Given the description of an element on the screen output the (x, y) to click on. 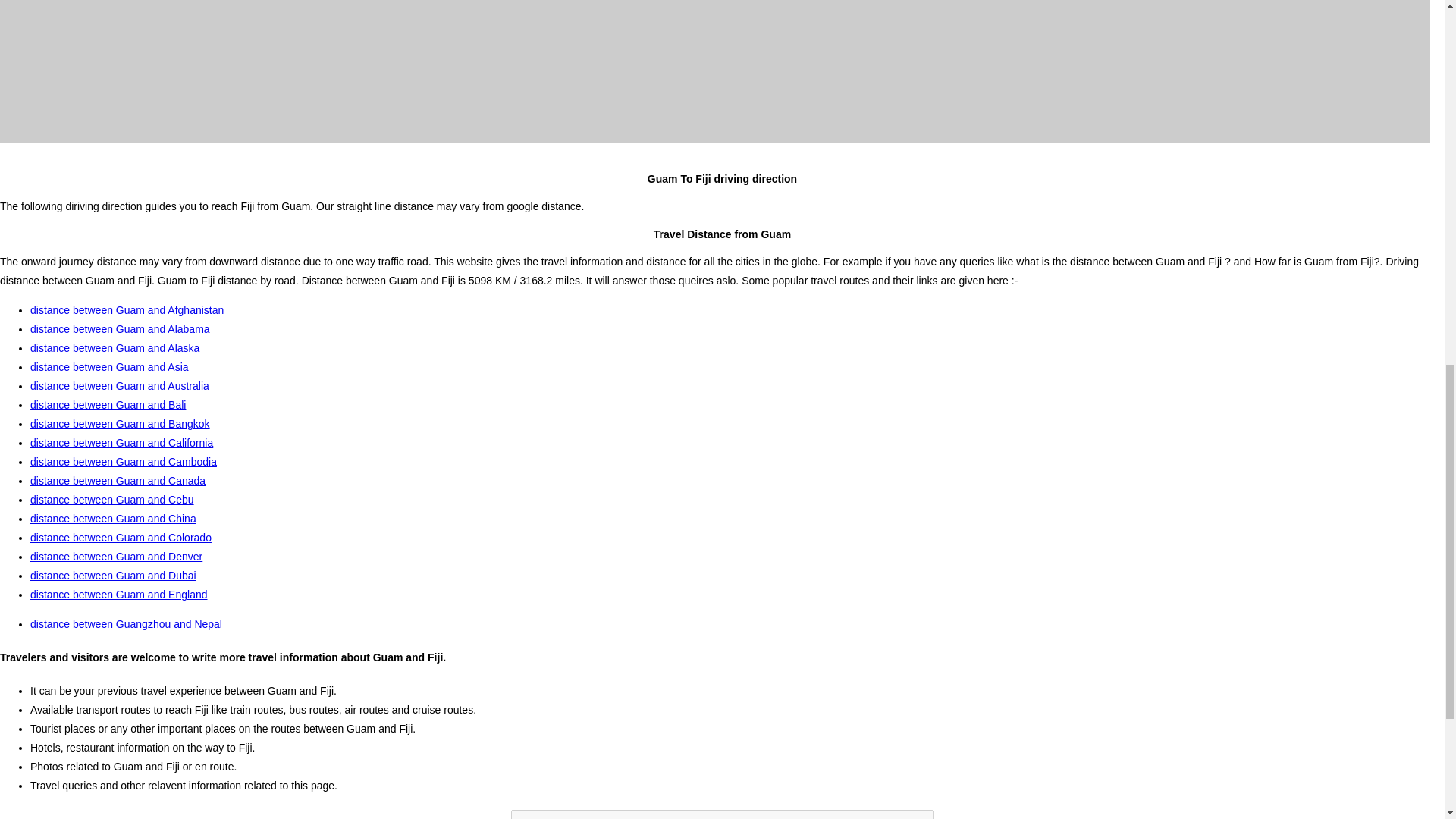
distance between Guam and England (119, 594)
distance between Guam and California (121, 442)
distance between Guam and Dubai (113, 575)
distance between Guam and Denver (116, 556)
distance between Guam and Canada (117, 480)
distance between Guam and Alaska (114, 347)
distance between Guam and Cambodia (123, 461)
distance between Guangzhou and Nepal (126, 623)
distance between Guam and Afghanistan (127, 309)
distance between Guam and China (113, 518)
distance between Guam and Alabama (119, 328)
distance between Guam and Australia (119, 386)
distance between Guam and Bangkok (119, 423)
distance between Guam and Cebu (111, 499)
distance between Guam and Asia (109, 367)
